Given the description of an element on the screen output the (x, y) to click on. 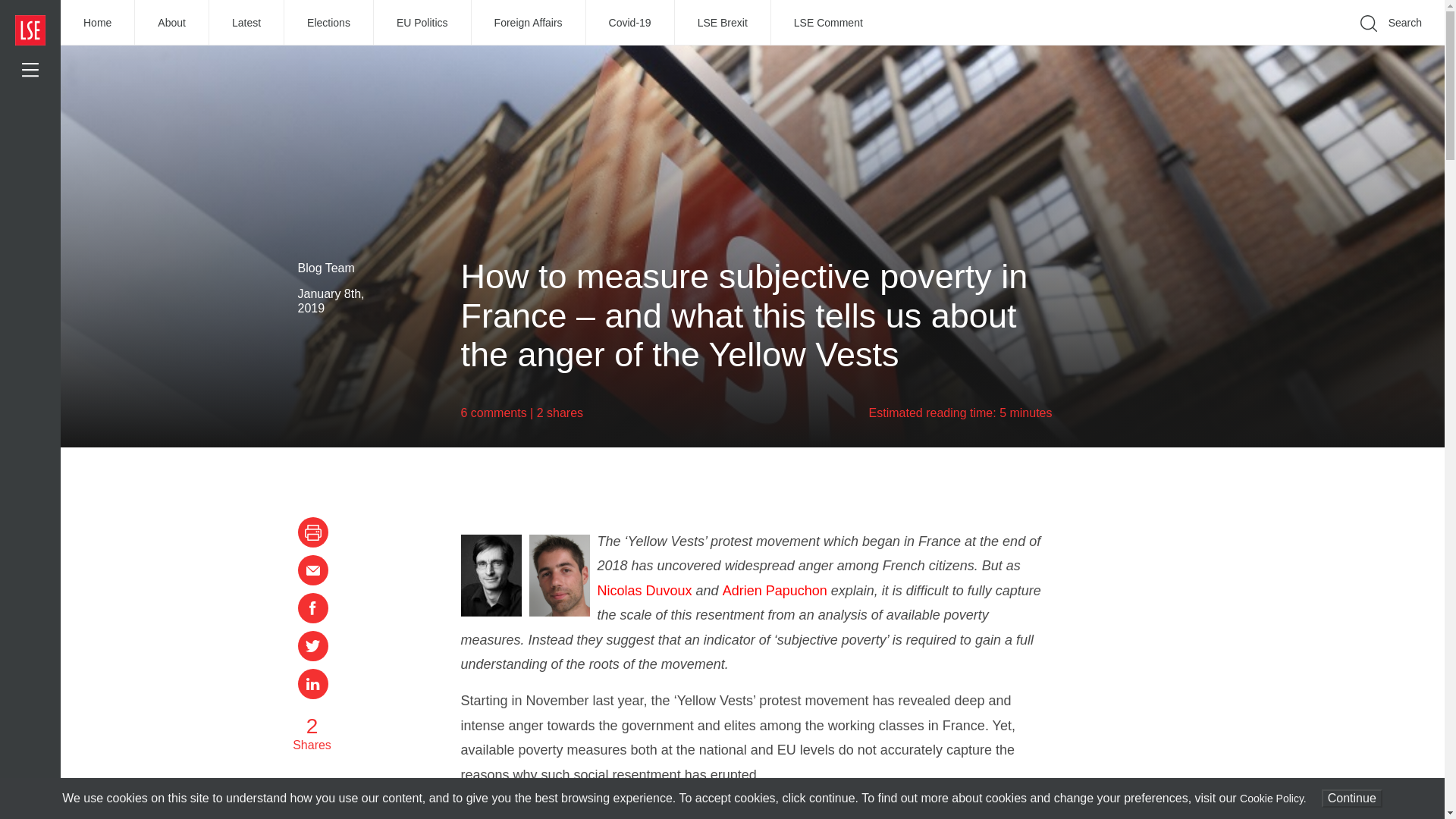
Nicolas Duvoux (644, 590)
Adrien Papuchon (776, 590)
6 comments (494, 412)
Home (98, 22)
Go (1190, 44)
Foreign Affairs (528, 22)
Latest (246, 22)
Elections (328, 22)
About (172, 22)
EU Politics (422, 22)
LSE Comment (828, 22)
LSE Brexit (723, 22)
Covid-19 (630, 22)
